Given the description of an element on the screen output the (x, y) to click on. 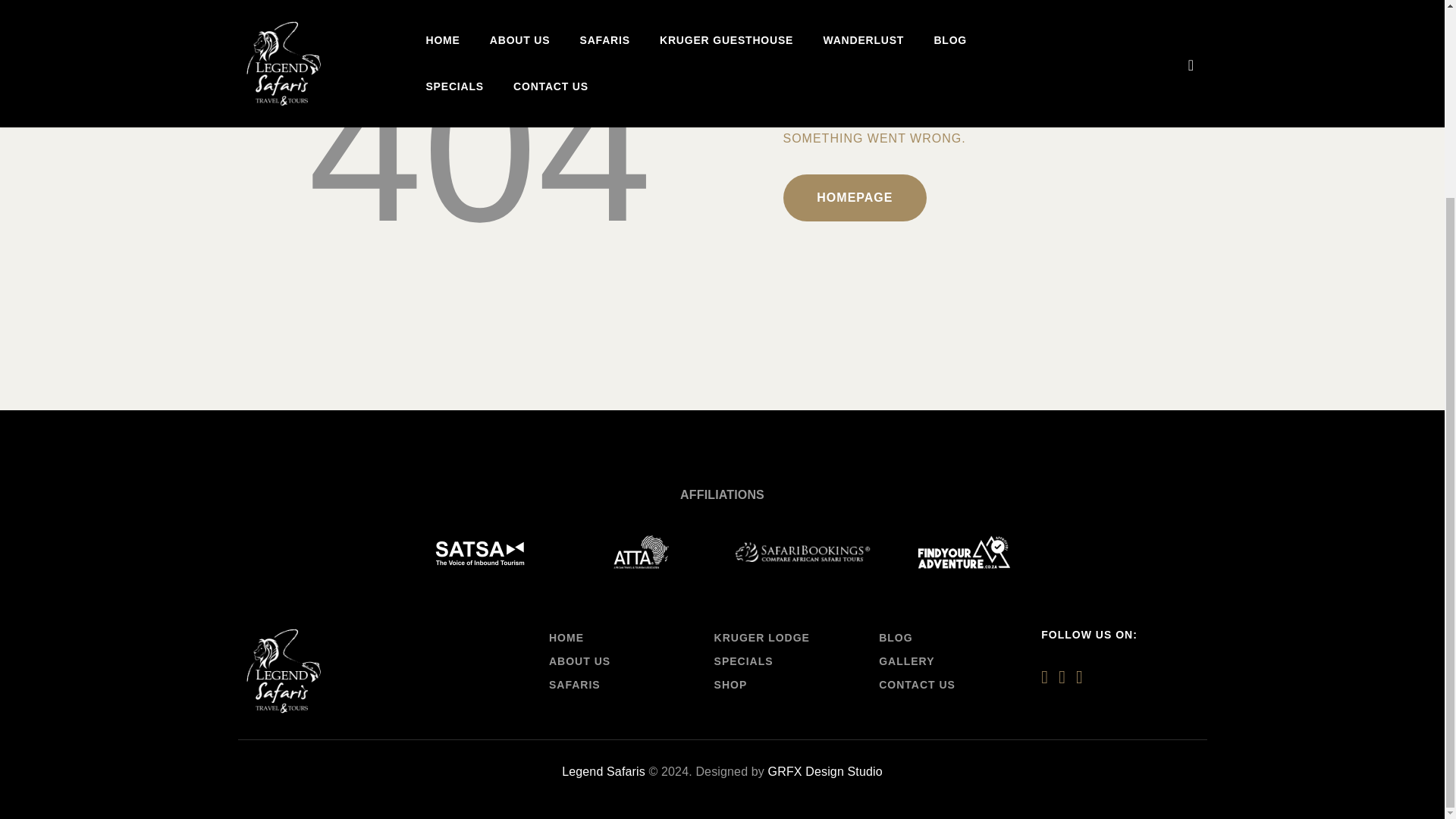
satsa3 (480, 553)
